Given the description of an element on the screen output the (x, y) to click on. 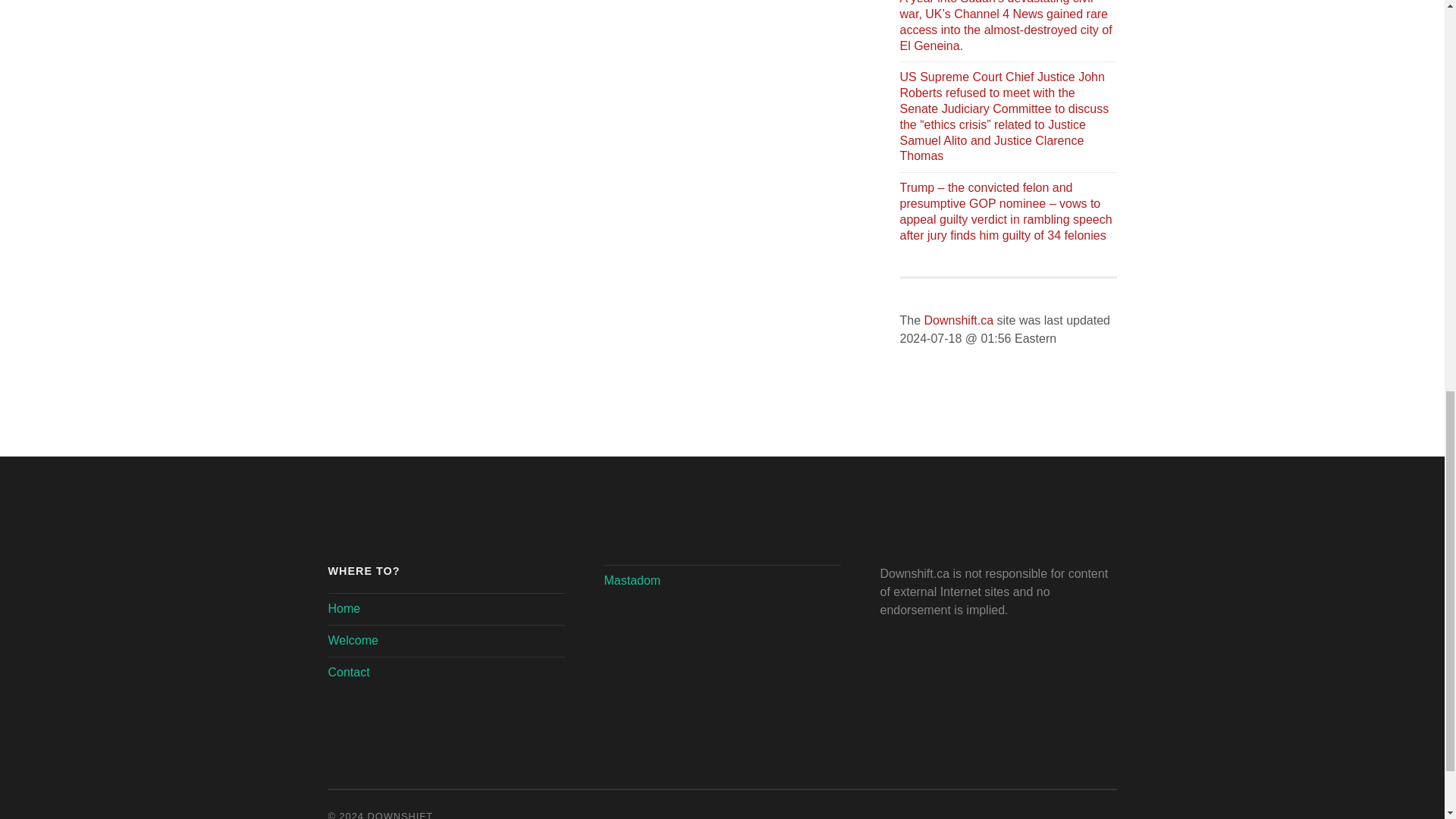
Downshift.ca (959, 319)
Mastadom (632, 580)
Welcome (352, 640)
Home (343, 608)
DOWNSHIFT (400, 814)
Contact (348, 671)
